Given the description of an element on the screen output the (x, y) to click on. 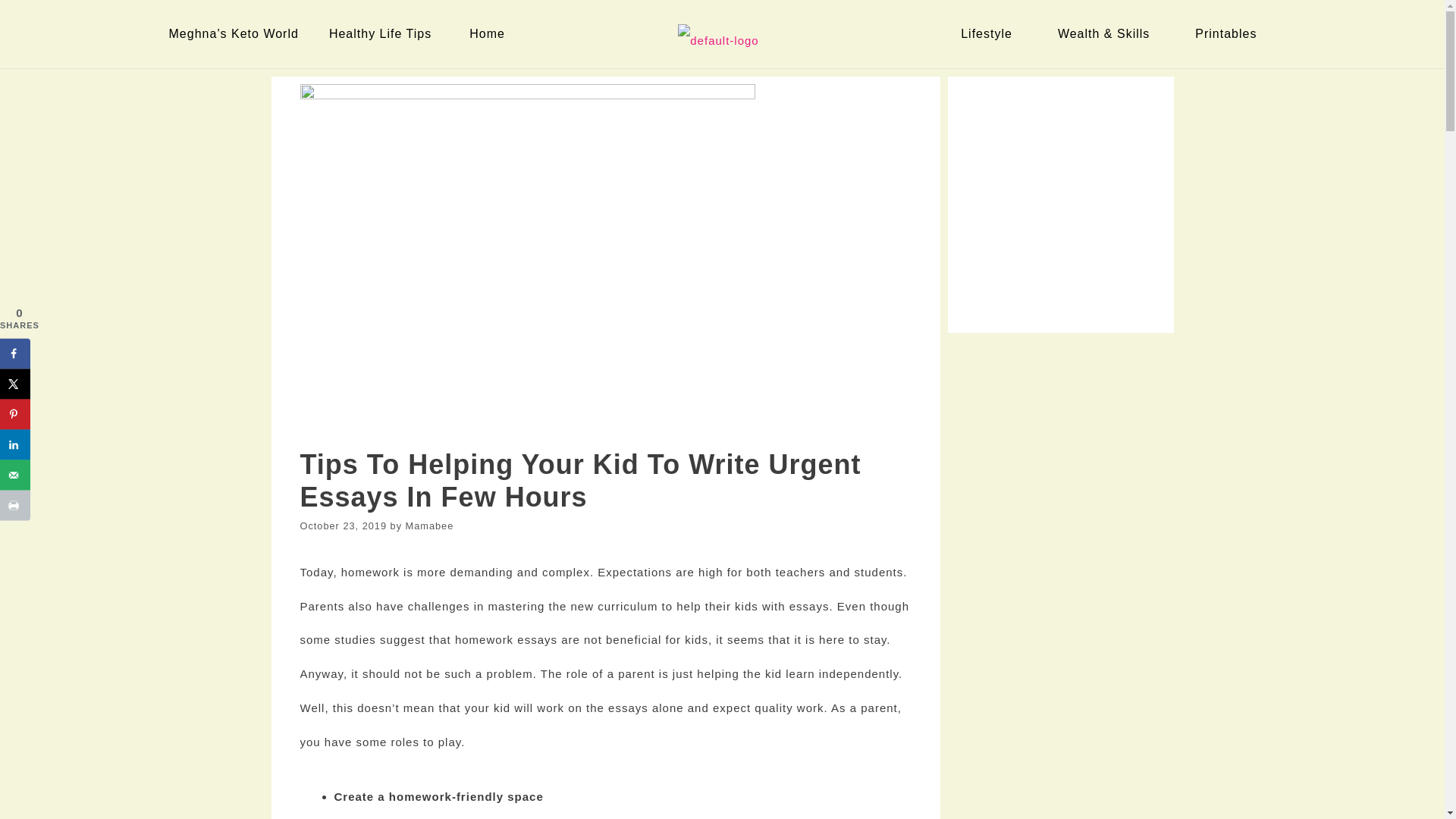
Save to Pinterest (15, 413)
View all posts by Mamabee (430, 525)
Share on Facebook (15, 353)
Healthy Life Tips (383, 33)
Share on X (15, 383)
Home (490, 33)
Share on LinkedIn (15, 444)
Lifestyle (989, 33)
